Given the description of an element on the screen output the (x, y) to click on. 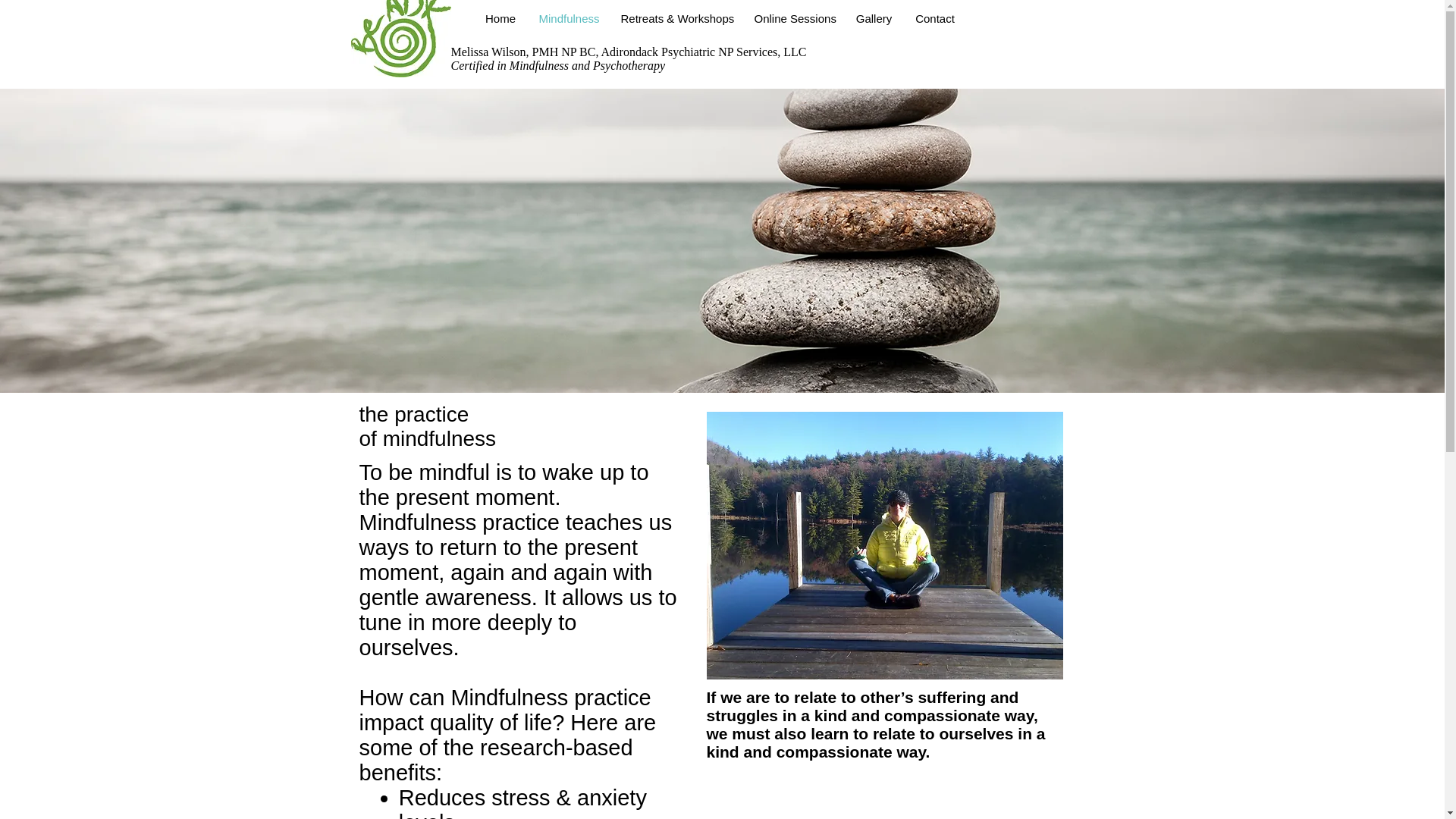
Mindfulness (568, 18)
Contact (935, 18)
Home (500, 18)
Gallery (874, 18)
Online Sessions (793, 18)
